Given the description of an element on the screen output the (x, y) to click on. 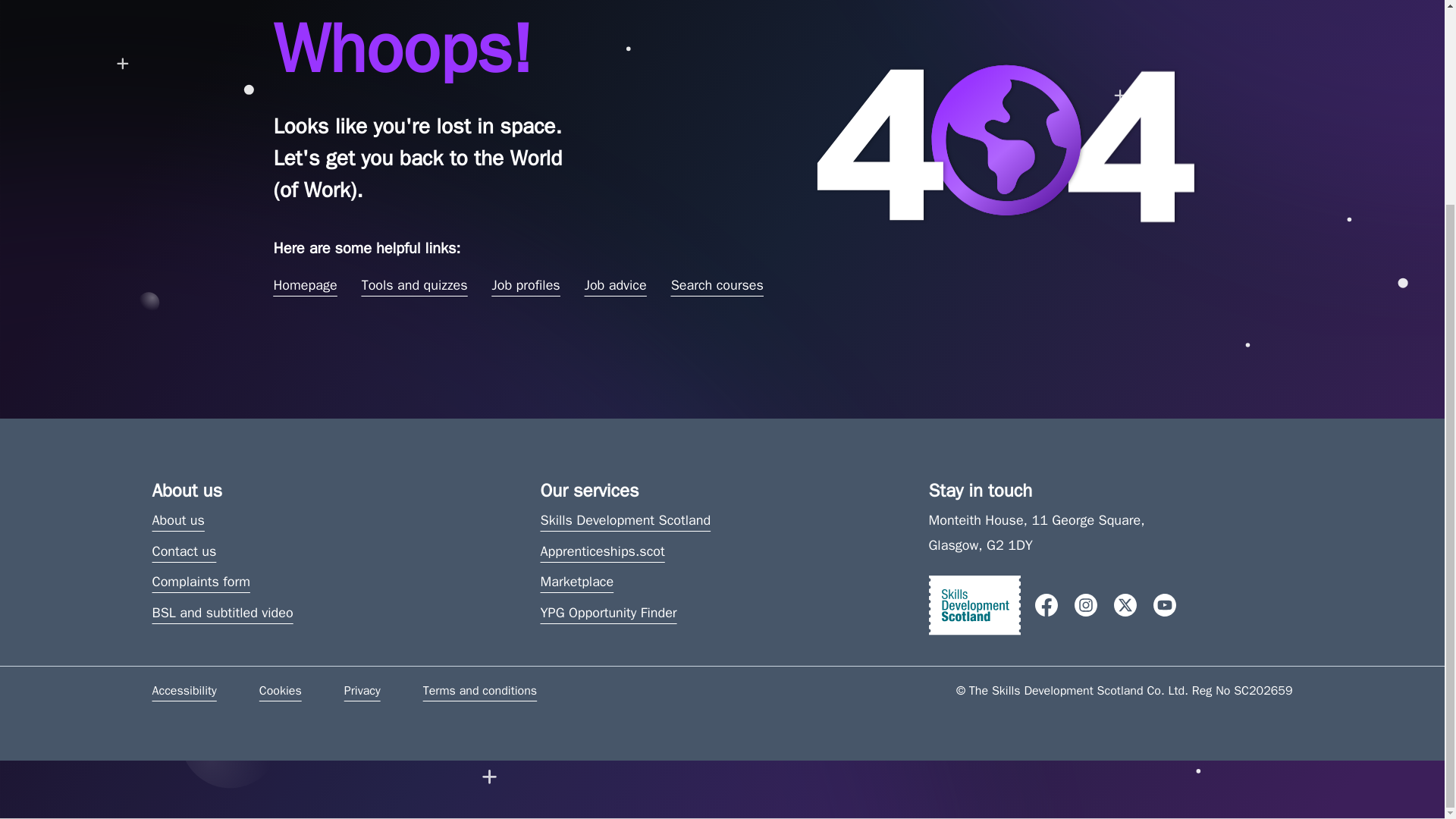
Homepage (304, 284)
Complaints form (199, 581)
Job advice (615, 284)
Contact us (183, 550)
Marketplace (576, 581)
About us (177, 519)
Apprenticeships.scot (601, 550)
Job profiles (525, 284)
BSL and subtitled video (221, 612)
Skills Development Scotland (625, 519)
